Given the description of an element on the screen output the (x, y) to click on. 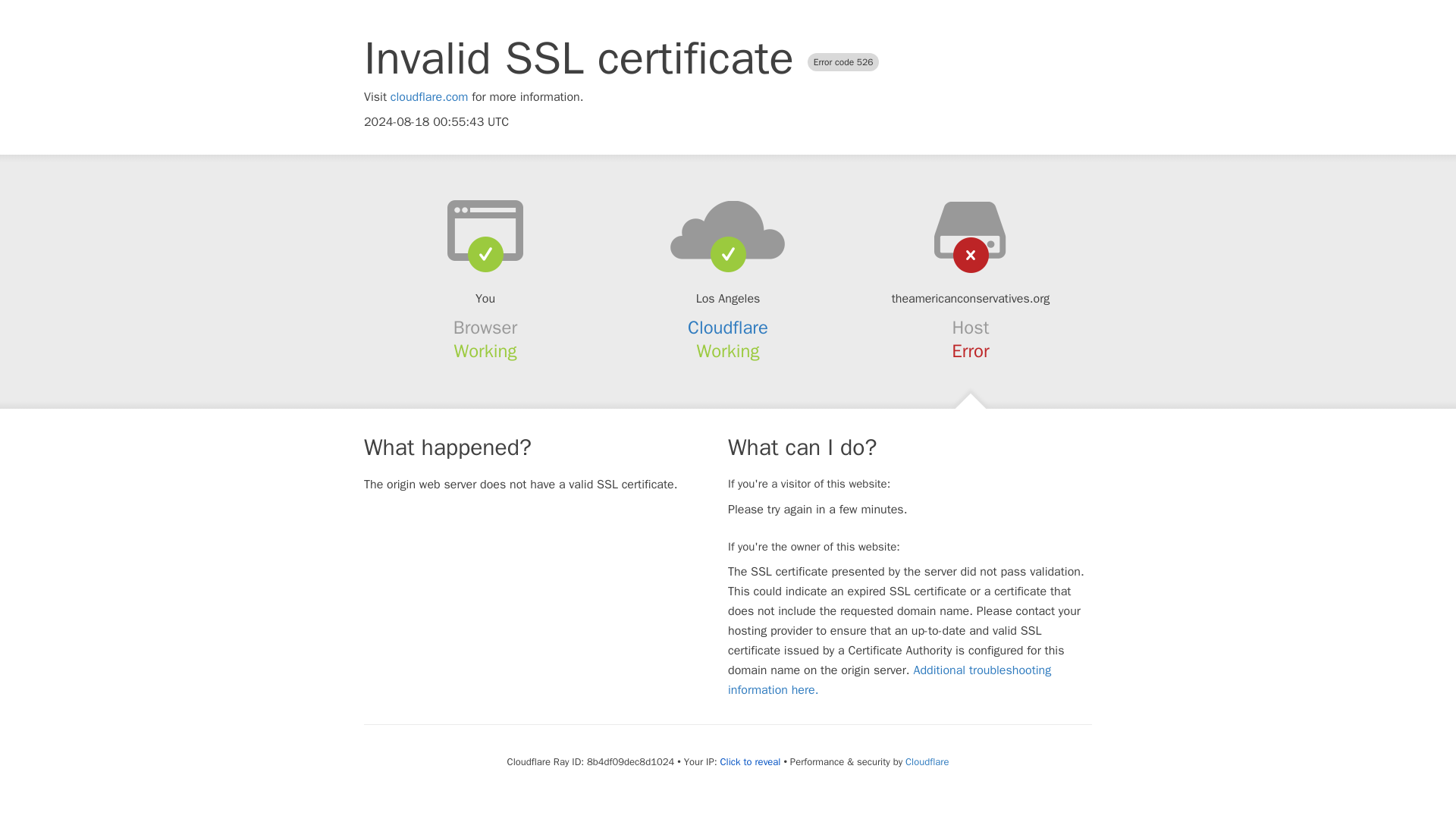
Click to reveal (750, 762)
Cloudflare (927, 761)
Additional troubleshooting information here. (889, 679)
cloudflare.com (429, 96)
Cloudflare (727, 327)
